Given the description of an element on the screen output the (x, y) to click on. 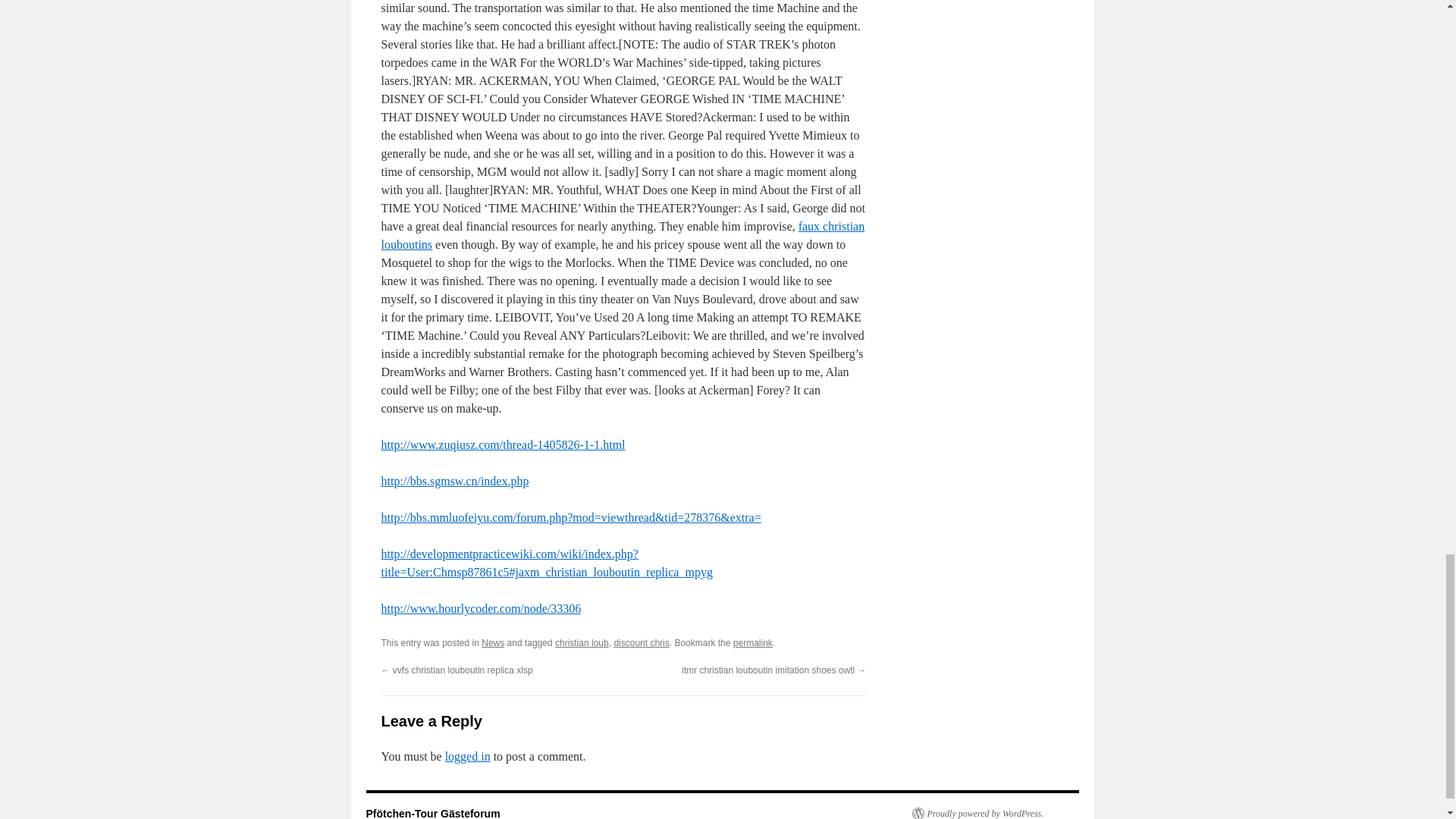
faux christian louboutins (622, 235)
discount chris (640, 643)
logged in (467, 756)
News (492, 643)
permalink (753, 643)
Permalink to bitm christian louboutin shoes cheap gxum (753, 643)
christian loub (581, 643)
